Given the description of an element on the screen output the (x, y) to click on. 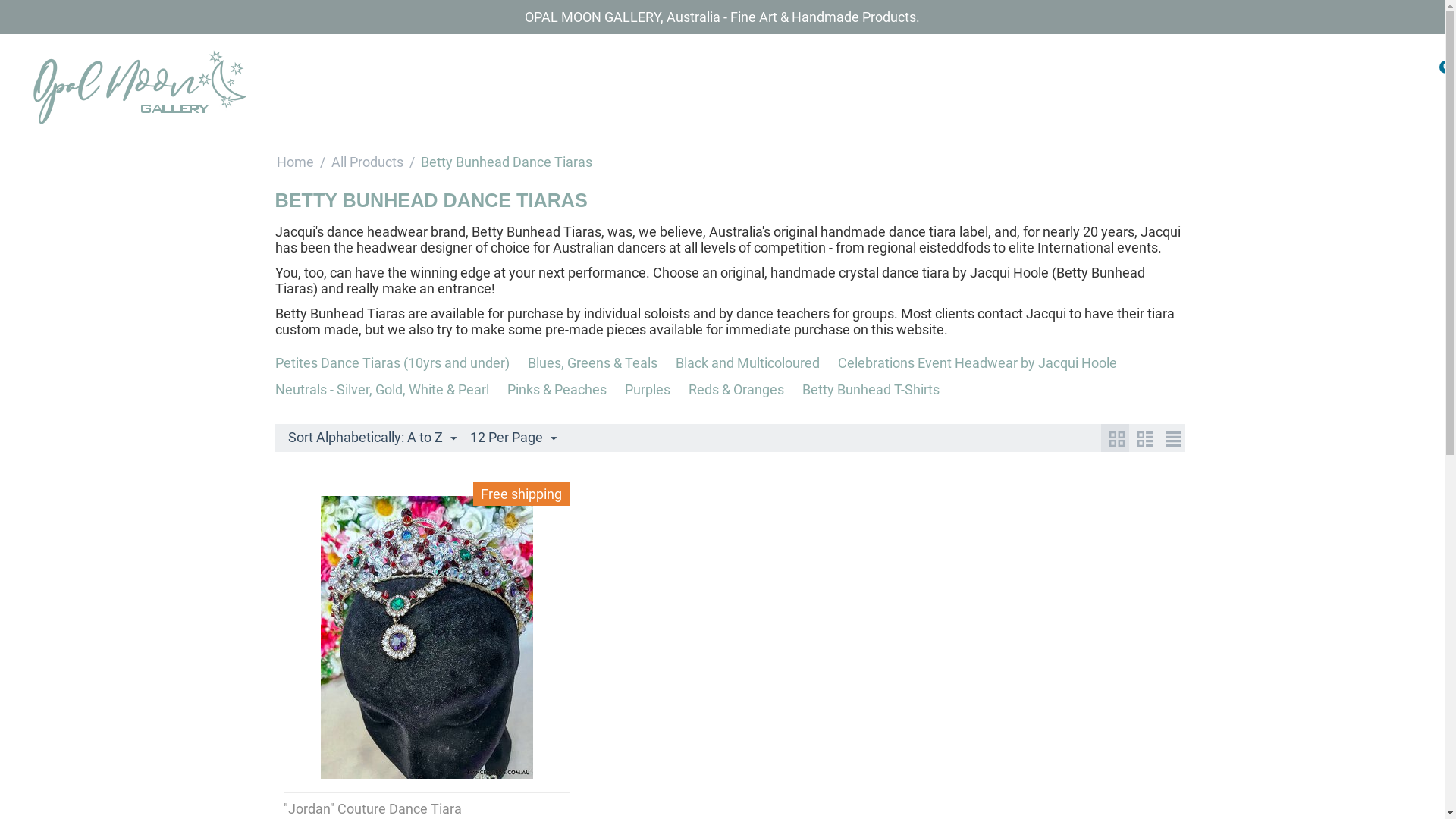
Pinks & Peaches Element type: text (555, 389)
Reds & Oranges Element type: text (736, 389)
Black and Multicoloured Element type: text (746, 362)
"Jordan" Couture Dance Tiara Element type: text (426, 808)
OPAL MOON Fine Art & Handmade Creations Element type: hover (138, 87)
Blues, Greens & Teals Element type: text (592, 362)
Home Element type: text (294, 161)
All Products Element type: text (366, 161)
Petites Dance Tiaras (10yrs and under) Element type: text (391, 362)
Purples Element type: text (647, 389)
12 Per Page Element type: text (512, 437)
Sort Alphabetically: A to Z Element type: text (371, 437)
Betty Bunhead T-Shirts Element type: text (870, 389)
OPAL MOON Fine Art & Handmade Creations Element type: hover (138, 86)
Neutrals - Silver, Gold, White & Pearl Element type: text (381, 389)
Celebrations Event Headwear by Jacqui Hoole Element type: text (976, 362)
